Given the description of an element on the screen output the (x, y) to click on. 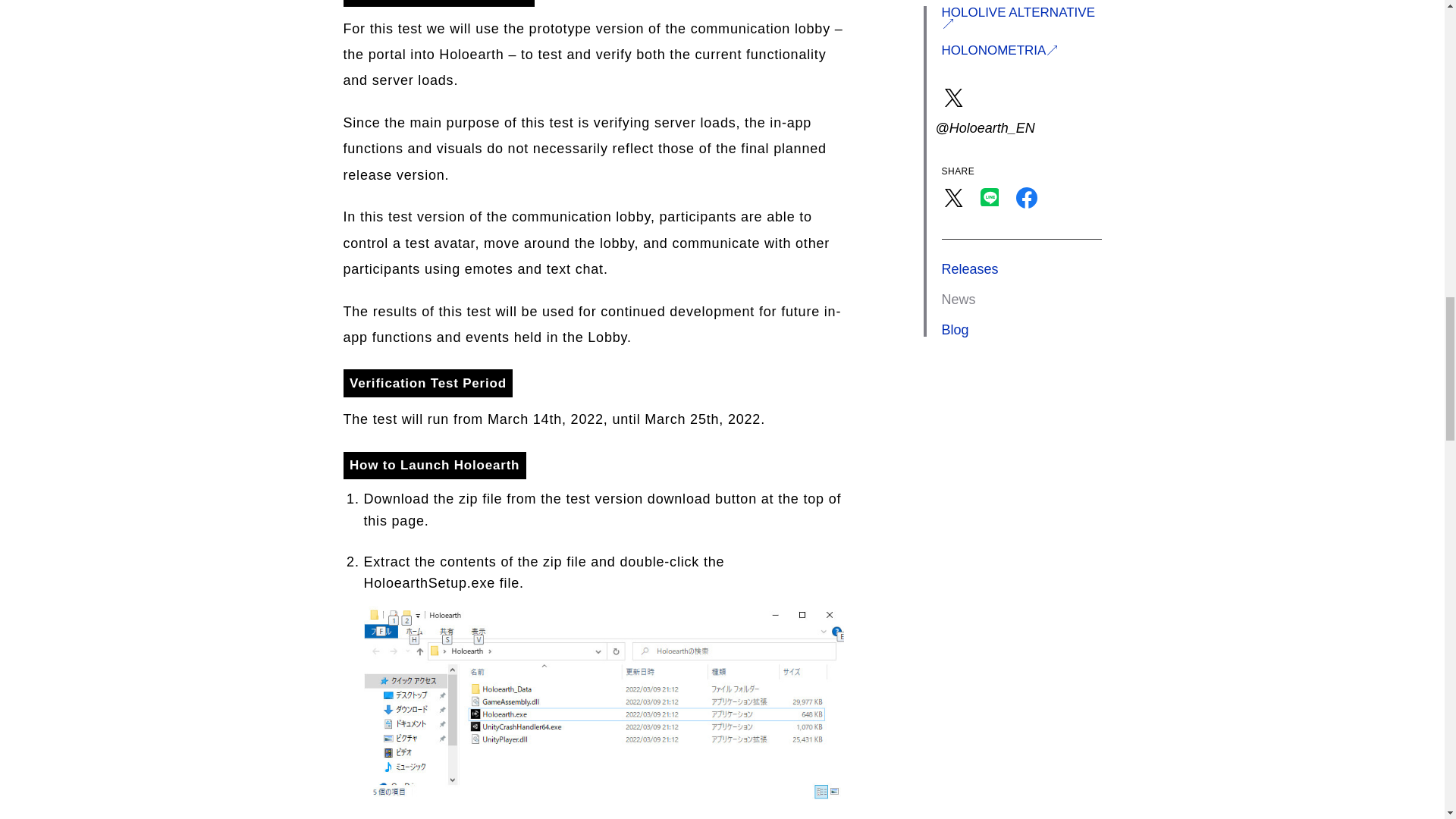
X (954, 208)
Facebook (1027, 208)
Releases (970, 268)
HOLOLIVE ALTERNATIVE (1022, 16)
LINE (990, 197)
X (954, 197)
Blog (955, 329)
X (954, 97)
LINE (990, 208)
News (958, 299)
